Given the description of an element on the screen output the (x, y) to click on. 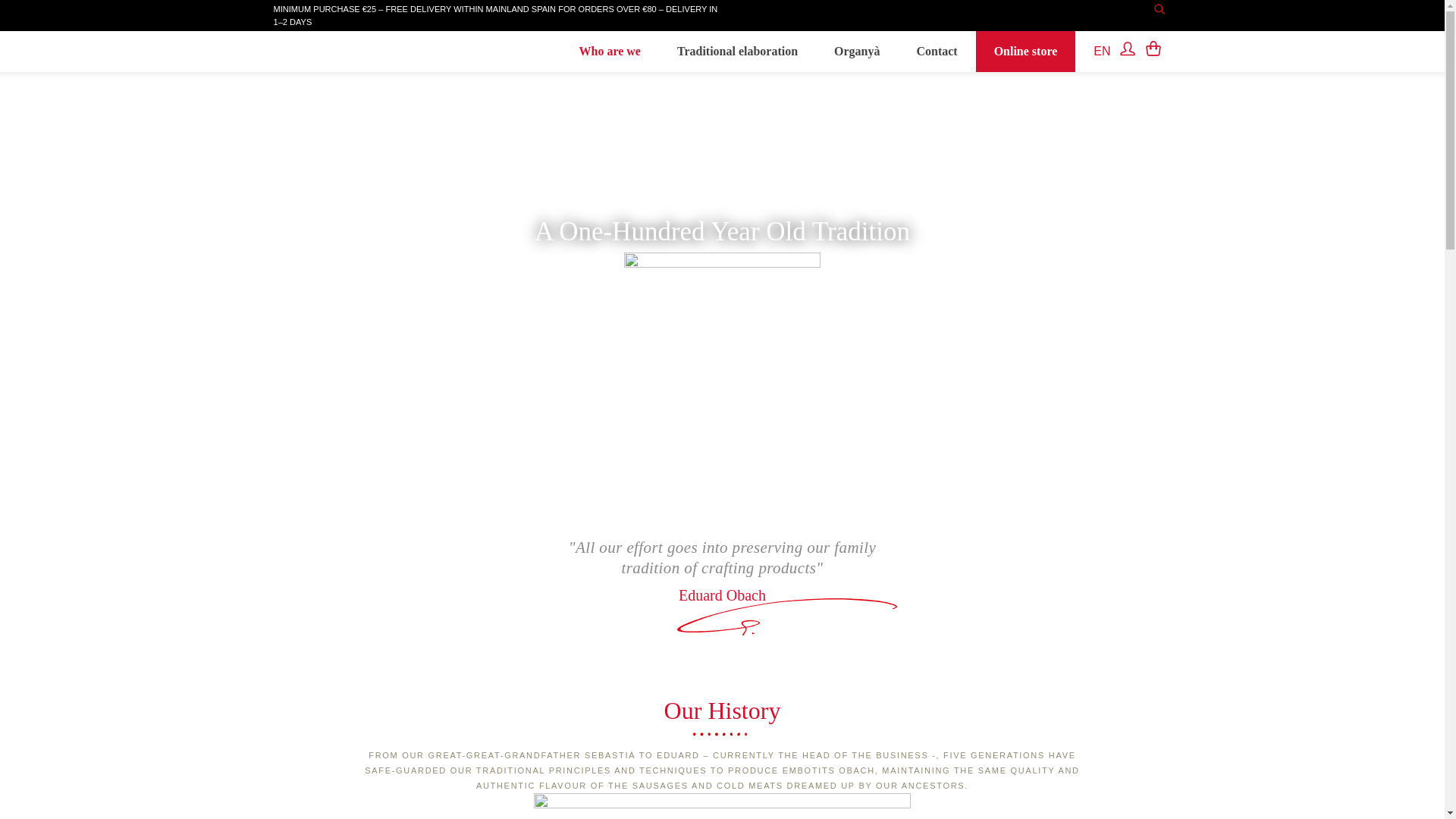
Traditional elaboration (737, 51)
Online store (1025, 51)
EN (1097, 51)
Contact (936, 51)
Embotits Obach (356, 66)
Who are we (609, 51)
EN (1097, 51)
